Given the description of an element on the screen output the (x, y) to click on. 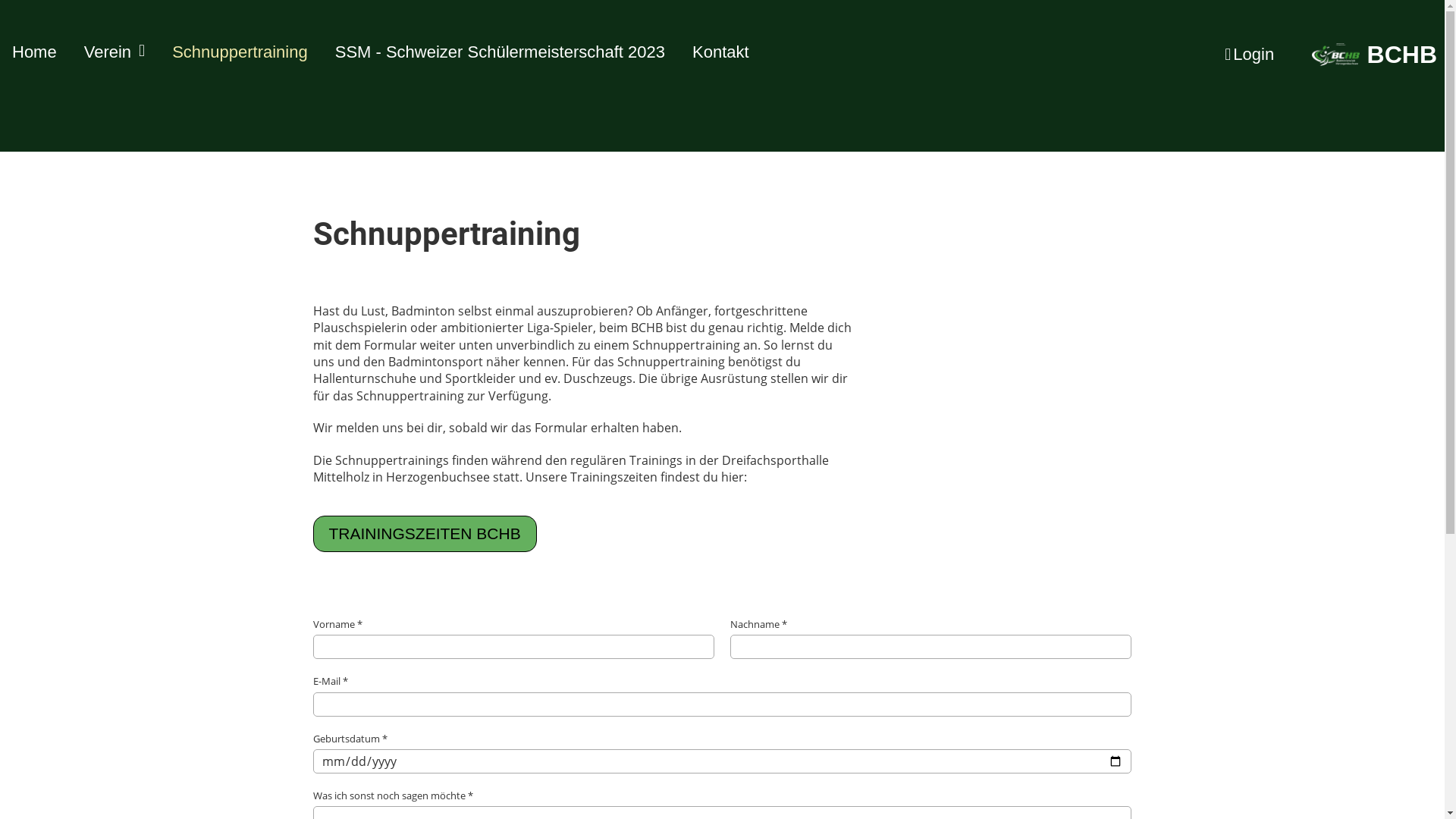
Verein Element type: text (114, 52)
Home Element type: text (34, 52)
BCHB Element type: text (1402, 54)
Schnuppertraining Element type: text (240, 52)
TRAININGSZEITEN BCHB Element type: text (424, 533)
Login Element type: text (1248, 53)
Kontakt Element type: text (720, 52)
